Given the description of an element on the screen output the (x, y) to click on. 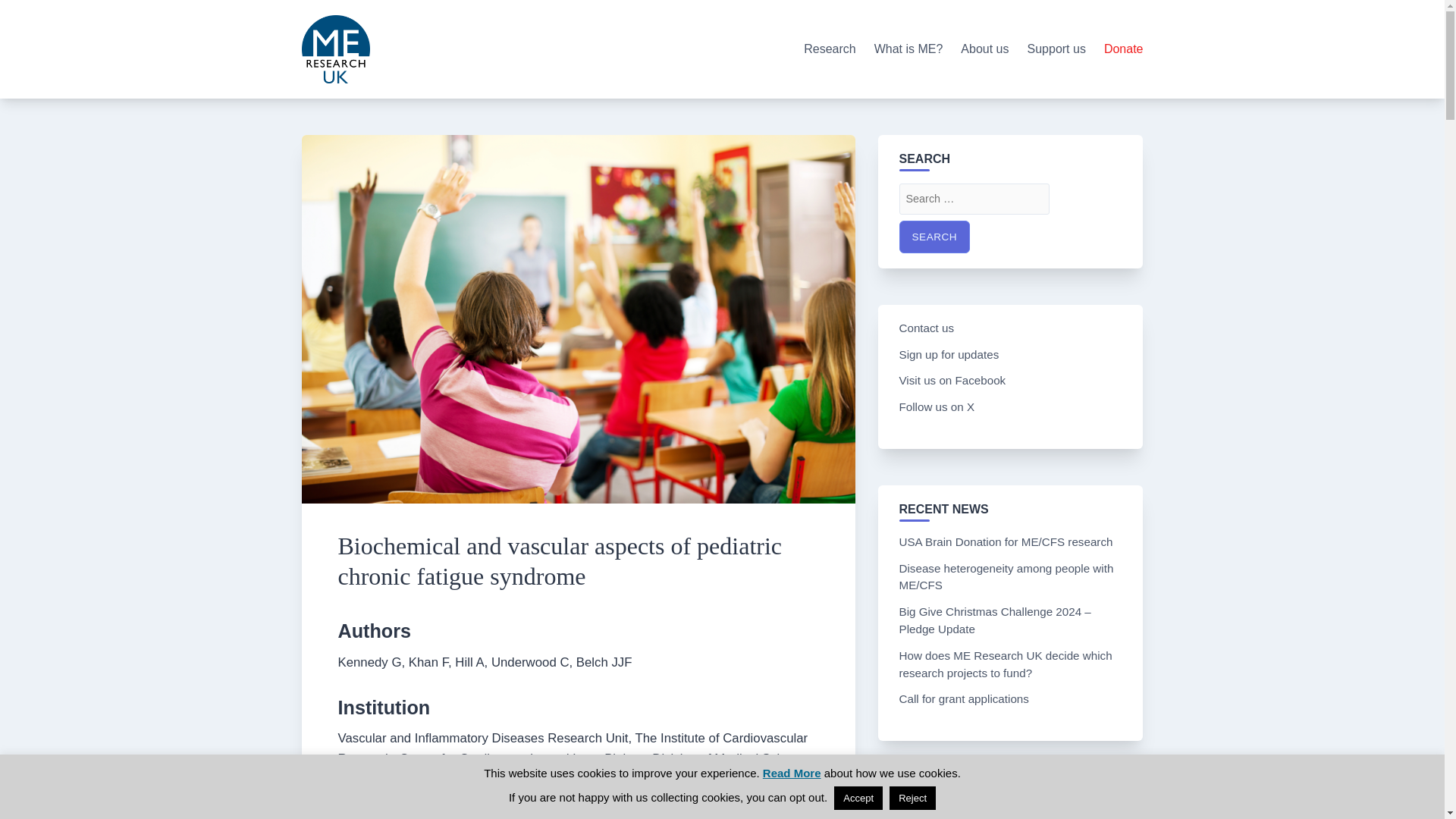
Research (829, 48)
Search (935, 236)
Support us (1056, 48)
What is ME? (909, 48)
Search (935, 236)
About us (984, 48)
Donate (1122, 48)
